Given the description of an element on the screen output the (x, y) to click on. 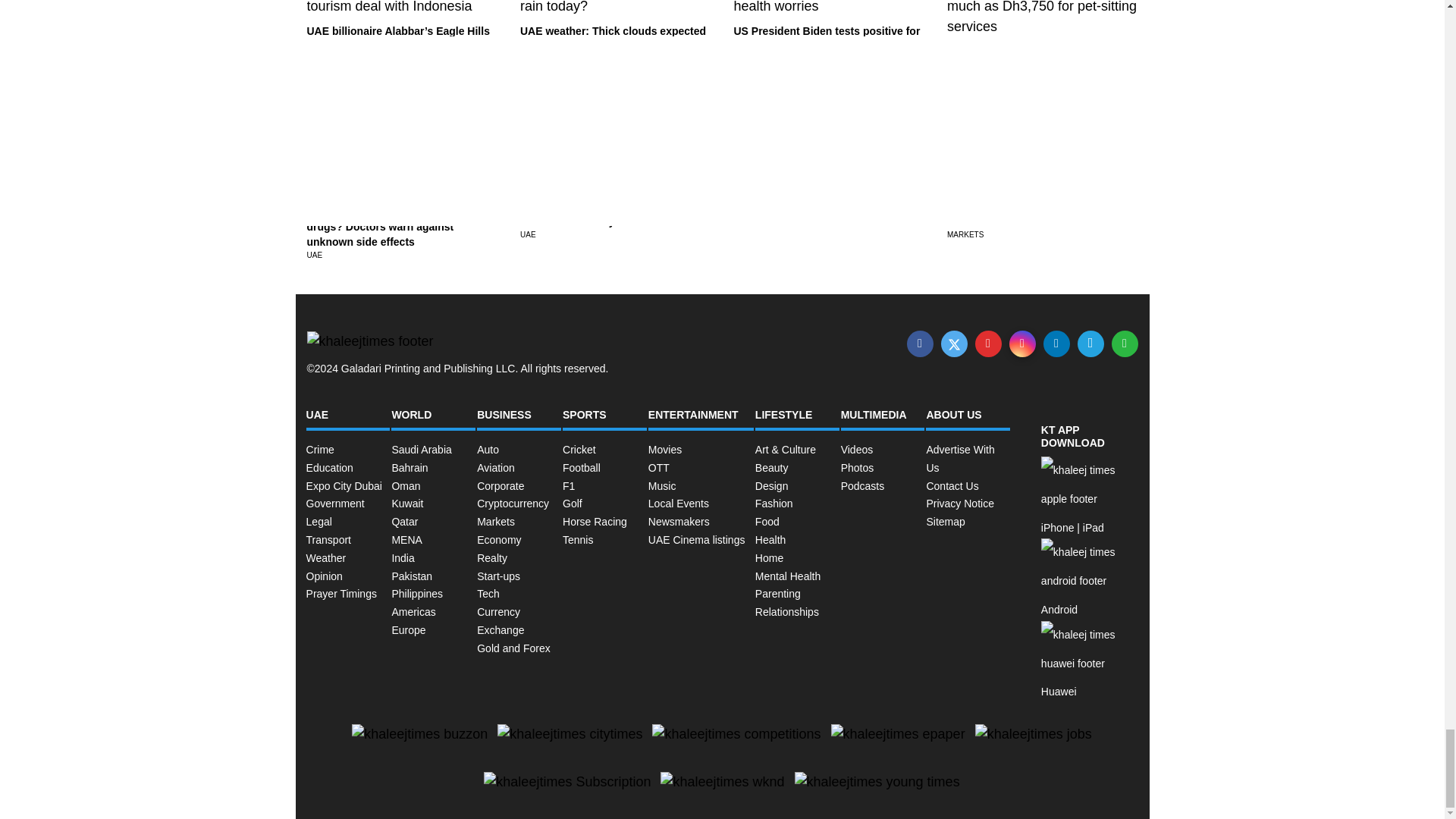
Aquaculture key to meeting UAE's 2051 food security target (820, 198)
